Given the description of an element on the screen output the (x, y) to click on. 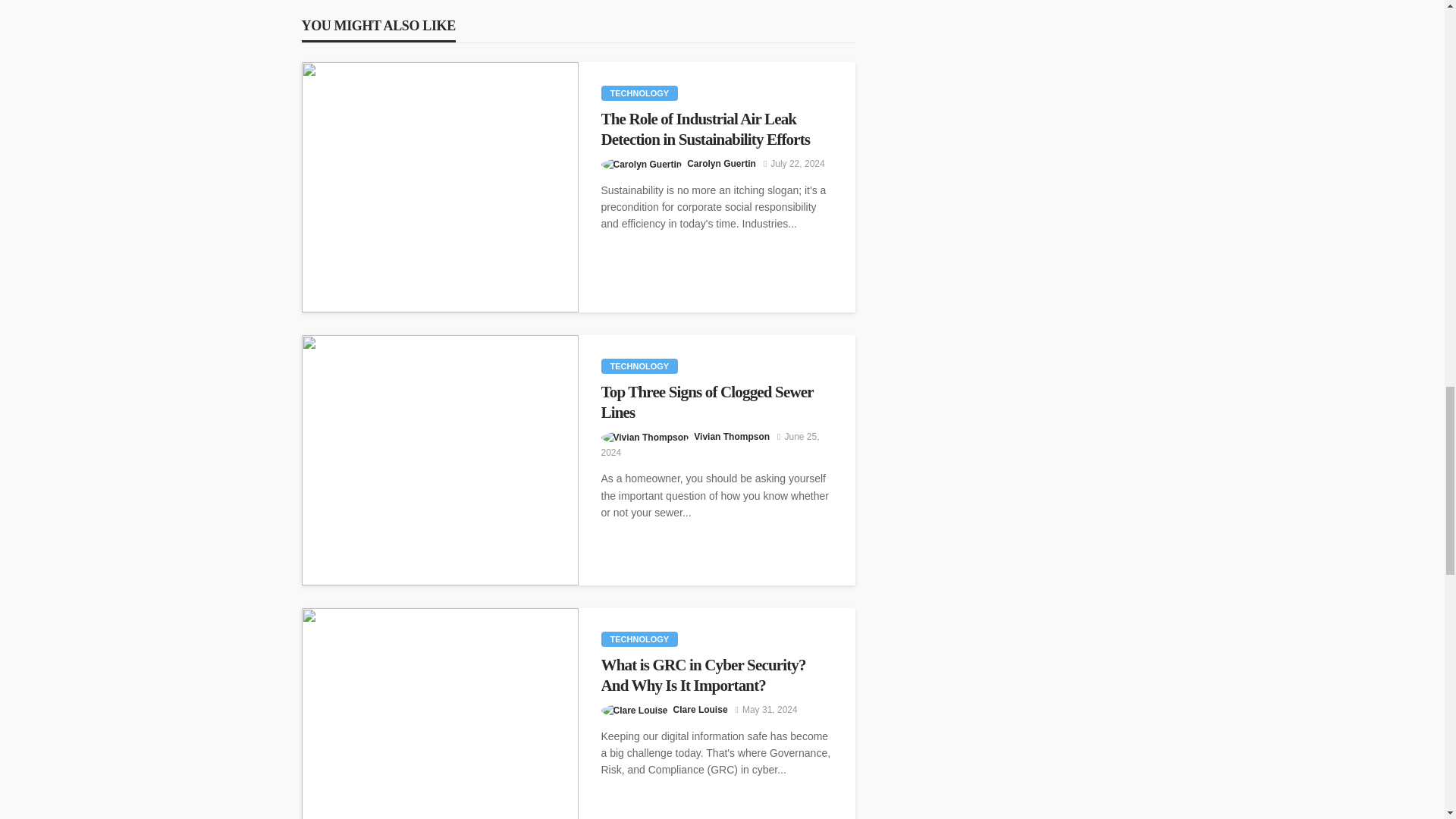
TECHNOLOGY (638, 92)
What is GRC in Cyber Security? And Why Is It Important? (715, 675)
Top Three Signs of Clogged Sewer Lines (715, 402)
What is GRC in Cyber Security? And Why Is It Important? (439, 713)
Carolyn Guertin (721, 163)
Top Three Signs of Clogged Sewer Lines (439, 459)
Technology (638, 365)
TECHNOLOGY (638, 639)
What is GRC in Cyber Security? And Why Is It Important? (715, 675)
TECHNOLOGY (638, 365)
Technology (638, 639)
Top Three Signs of Clogged Sewer Lines (715, 402)
Vivian Thompson (732, 436)
